Given the description of an element on the screen output the (x, y) to click on. 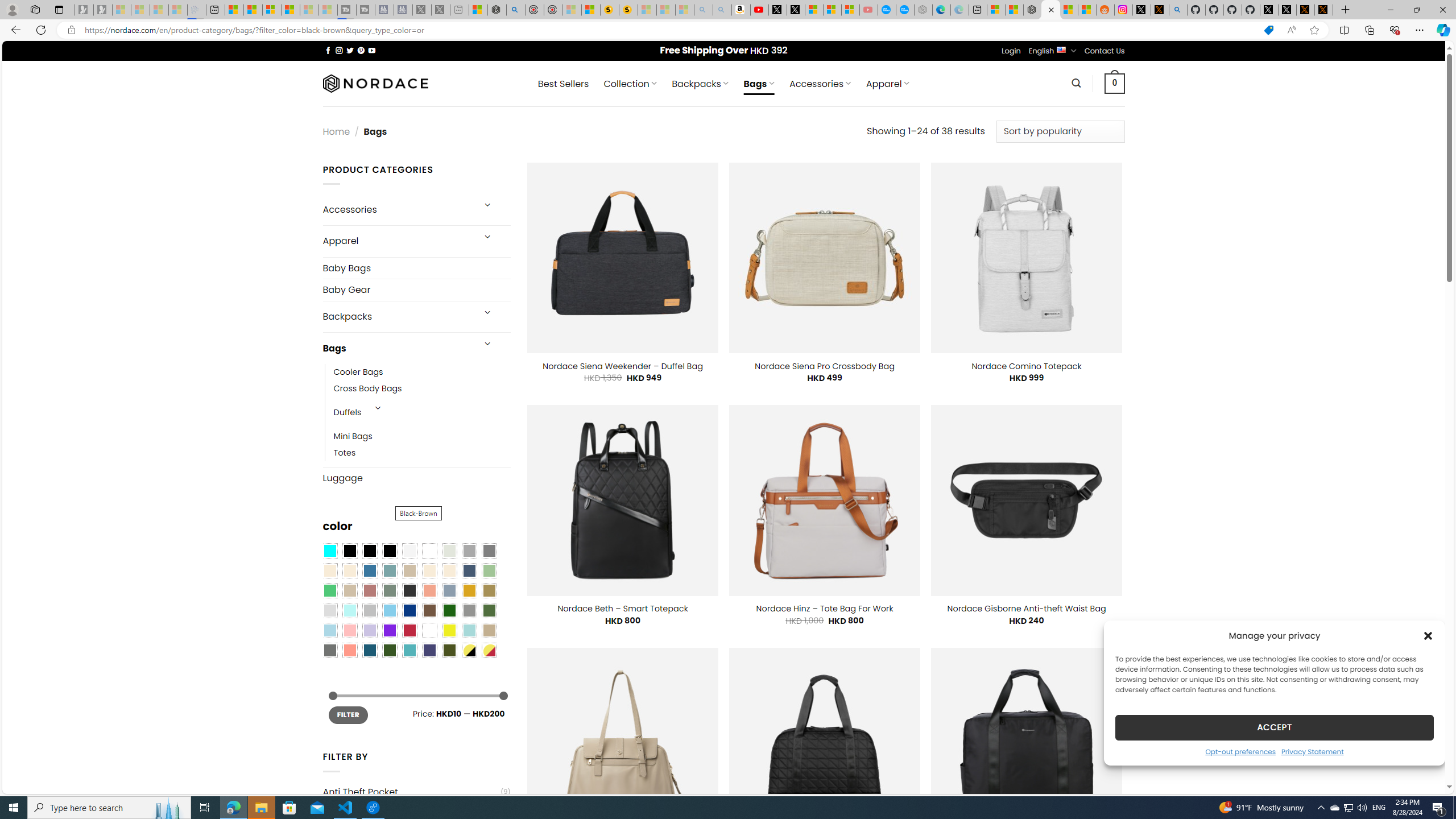
Khaki (488, 630)
X Privacy Policy (1324, 9)
Cooler Bags (422, 371)
Light Blue (329, 630)
